Given the description of an element on the screen output the (x, y) to click on. 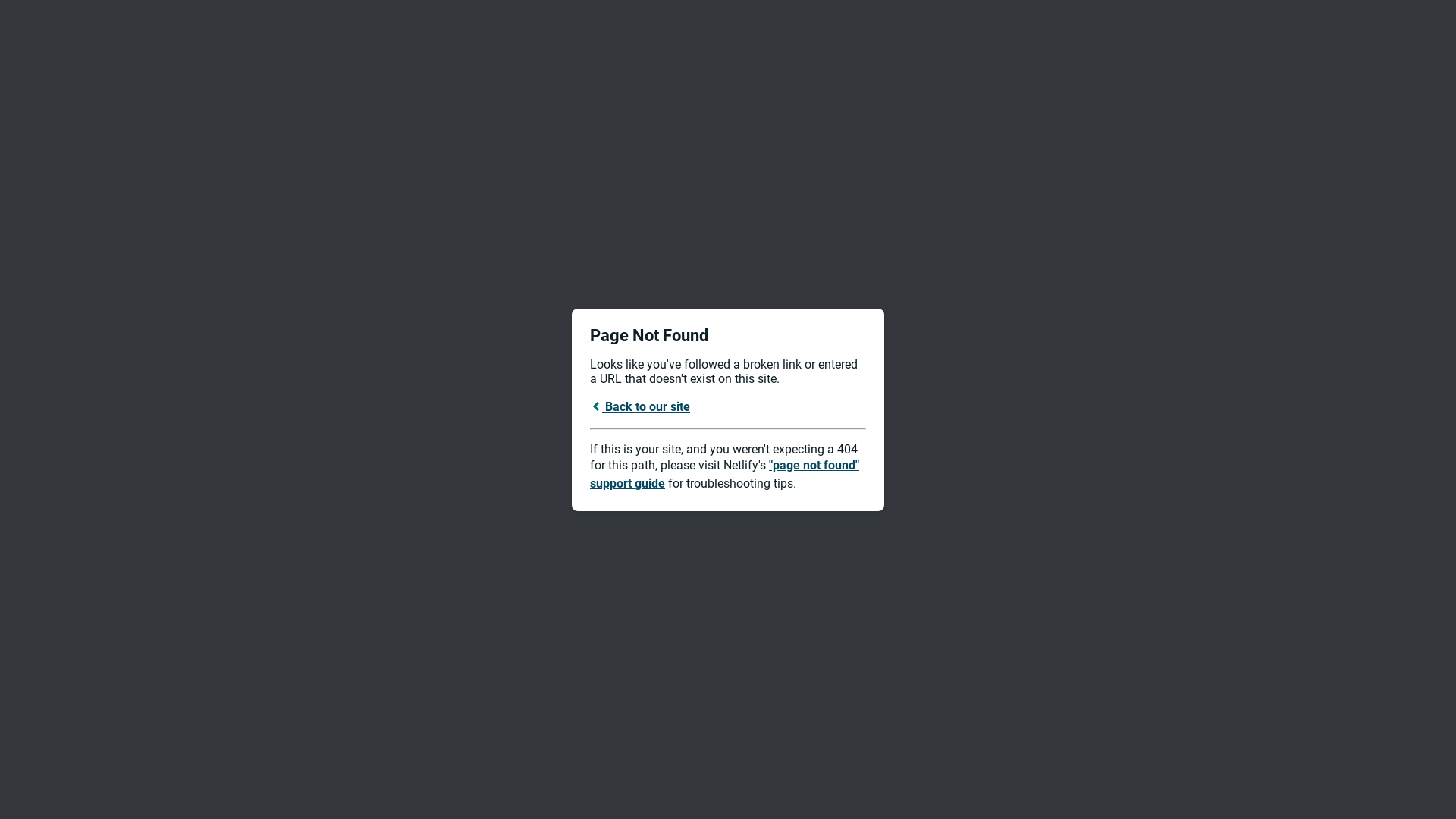
"page not found" support guide Element type: text (724, 474)
Back to our site Element type: text (639, 405)
